Given the description of an element on the screen output the (x, y) to click on. 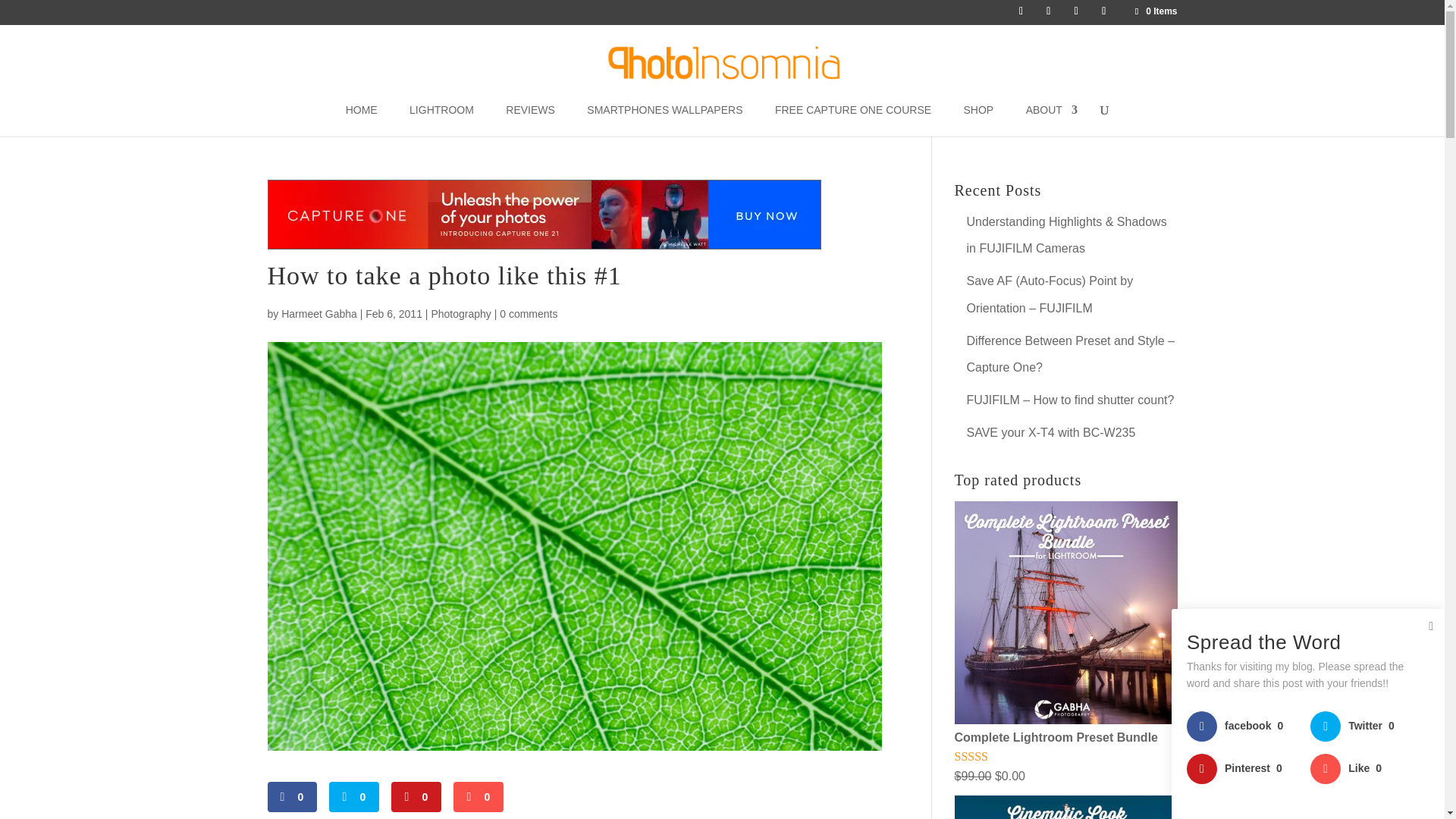
0 comments (528, 313)
REVIEWS (529, 120)
0 (416, 797)
0 Items (1154, 10)
Posts by Harmeet Gabha (318, 313)
HOME (361, 120)
FREE CAPTURE ONE COURSE (852, 120)
LIGHTROOM (441, 120)
0 (291, 797)
0 (353, 797)
SMARTPHONES WALLPAPERS (664, 120)
SHOP (978, 120)
Photography (460, 313)
Harmeet Gabha (318, 313)
ABOUT (1051, 120)
